Given the description of an element on the screen output the (x, y) to click on. 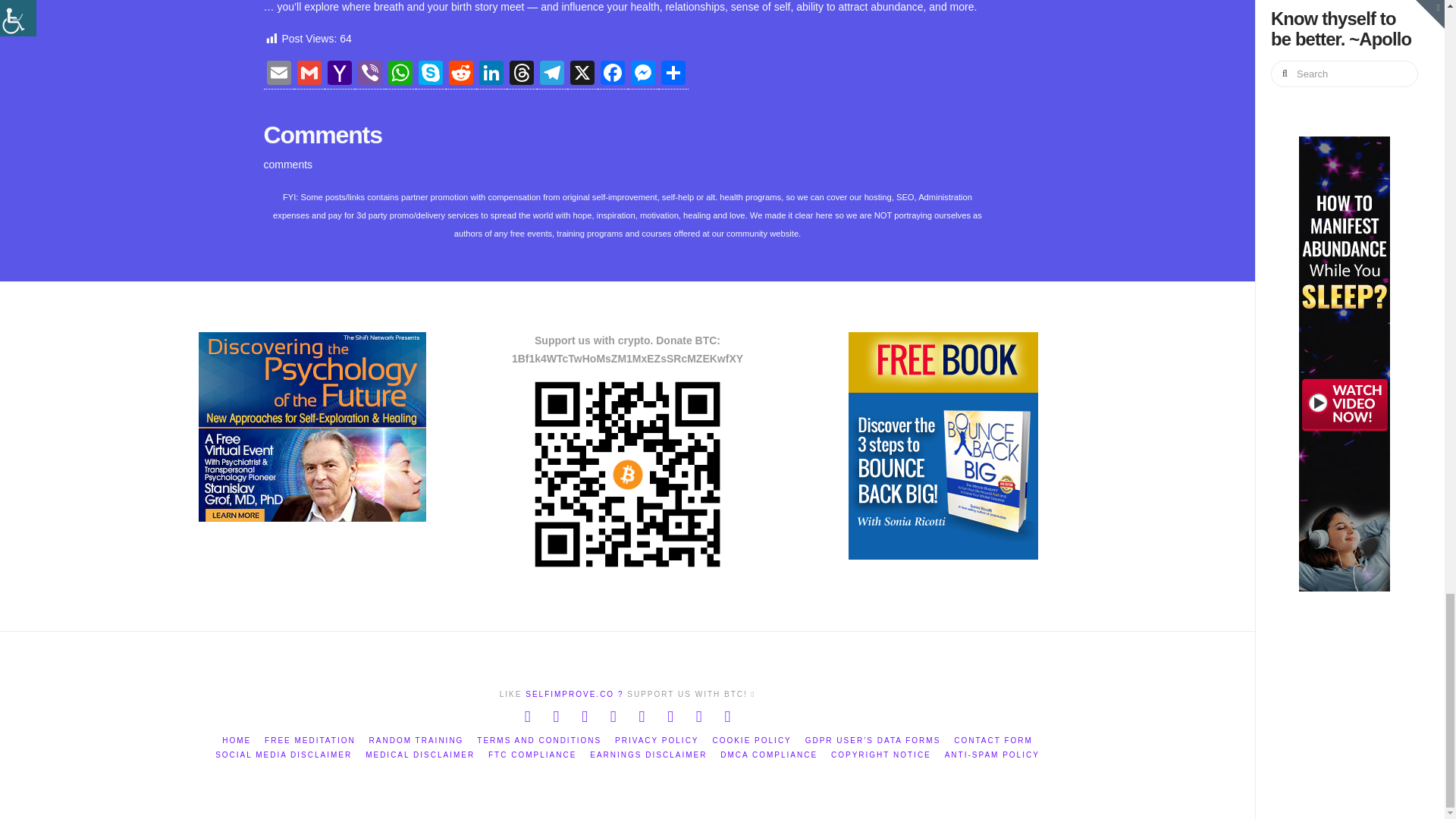
Gmail (309, 74)
Yahoo Mail (339, 74)
Viber (370, 74)
WhatsApp (399, 74)
Email (278, 74)
